Given the description of an element on the screen output the (x, y) to click on. 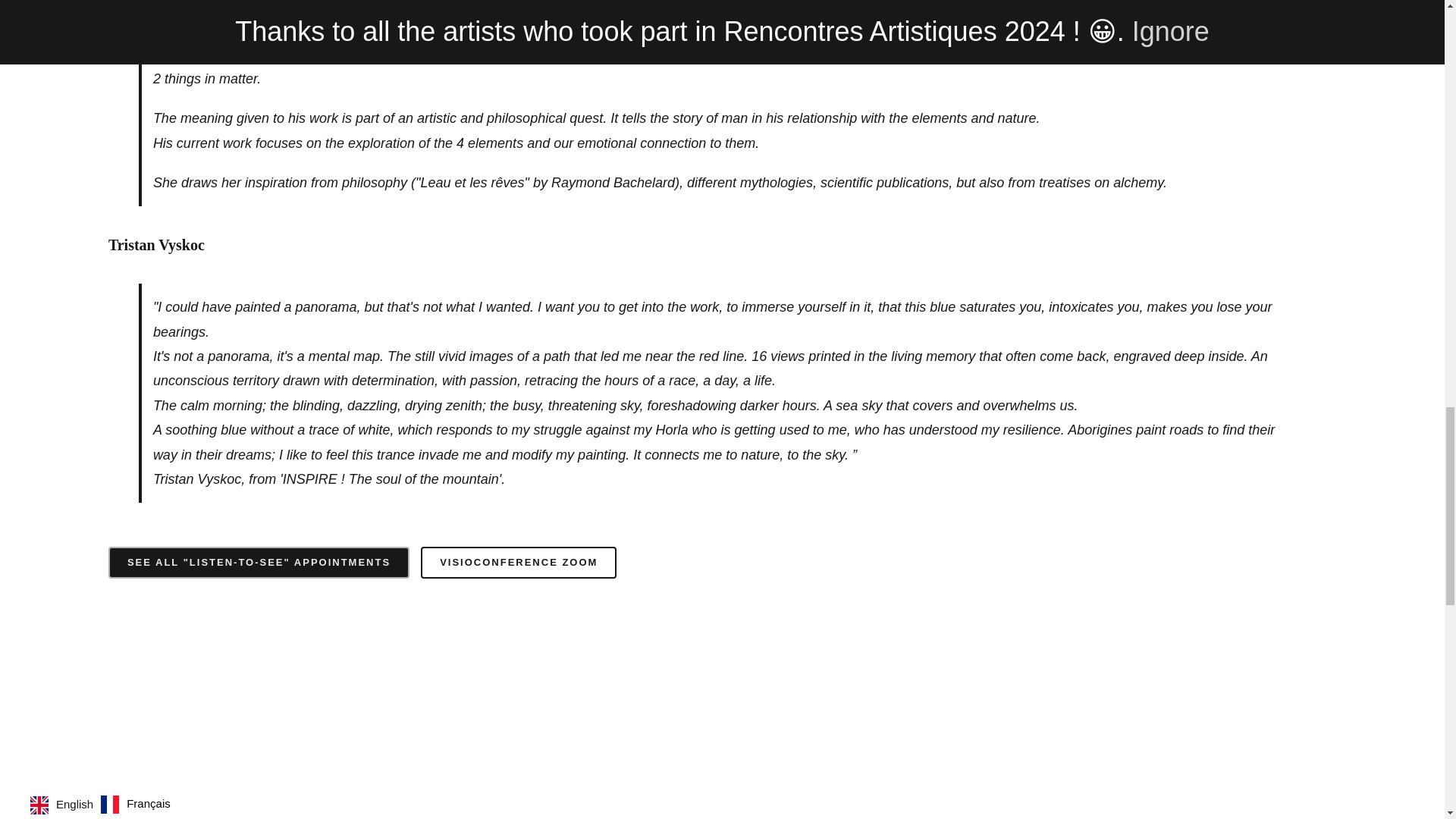
Page 1 (721, 244)
